Given the description of an element on the screen output the (x, y) to click on. 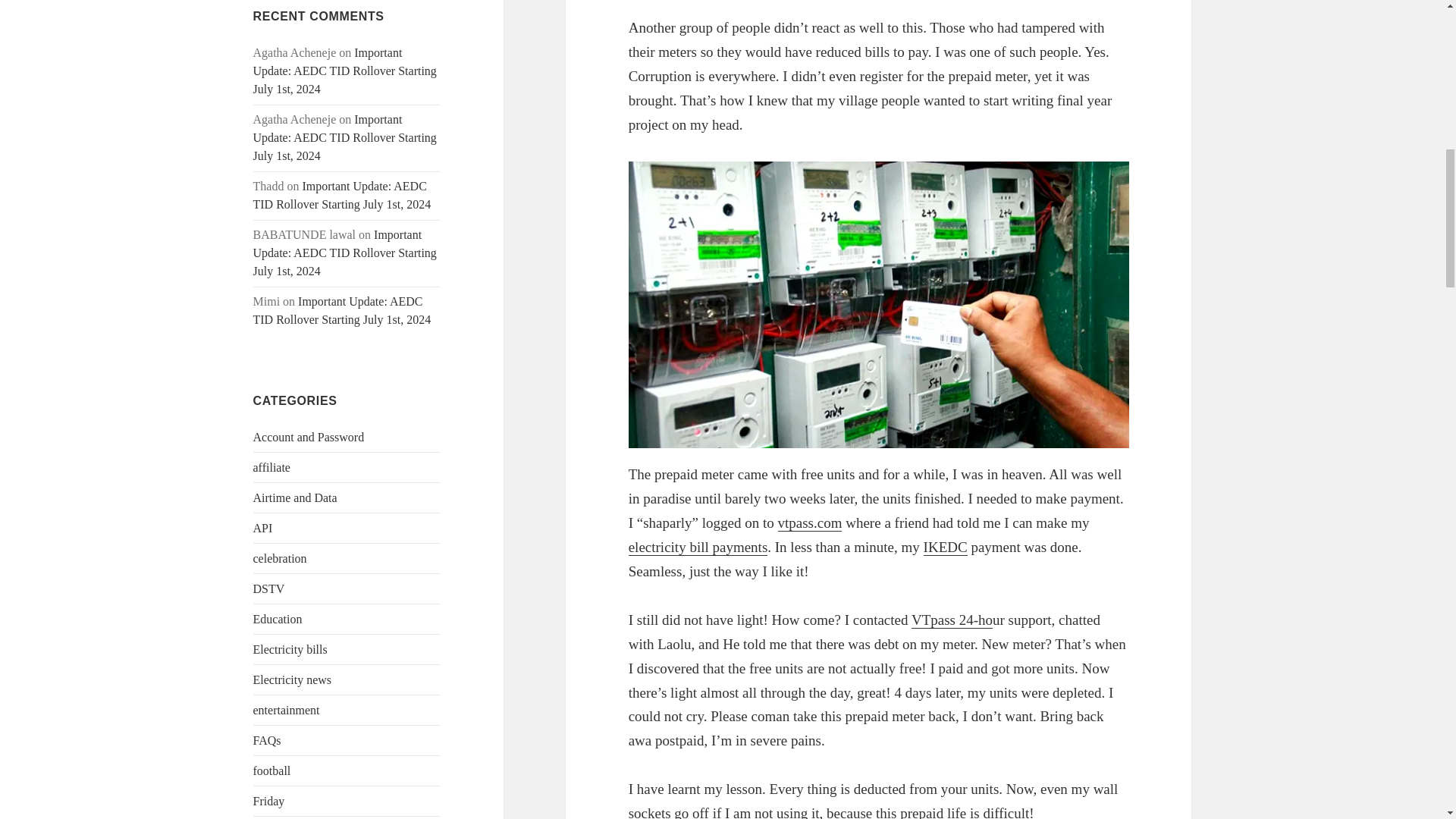
football (272, 770)
Electricity news (292, 679)
Important Update: AEDC TID Rollover Starting July 1st, 2024 (341, 309)
DSTV (269, 588)
Airtime and Data (295, 497)
API (263, 527)
FAQs (267, 739)
Important Update: AEDC TID Rollover Starting July 1st, 2024 (344, 252)
Important Update: AEDC TID Rollover Starting July 1st, 2024 (344, 137)
affiliate (271, 467)
Account and Password (309, 436)
entertainment (286, 709)
Electricity bills (290, 649)
Important Update: AEDC TID Rollover Starting July 1st, 2024 (341, 194)
Friday (269, 800)
